Given the description of an element on the screen output the (x, y) to click on. 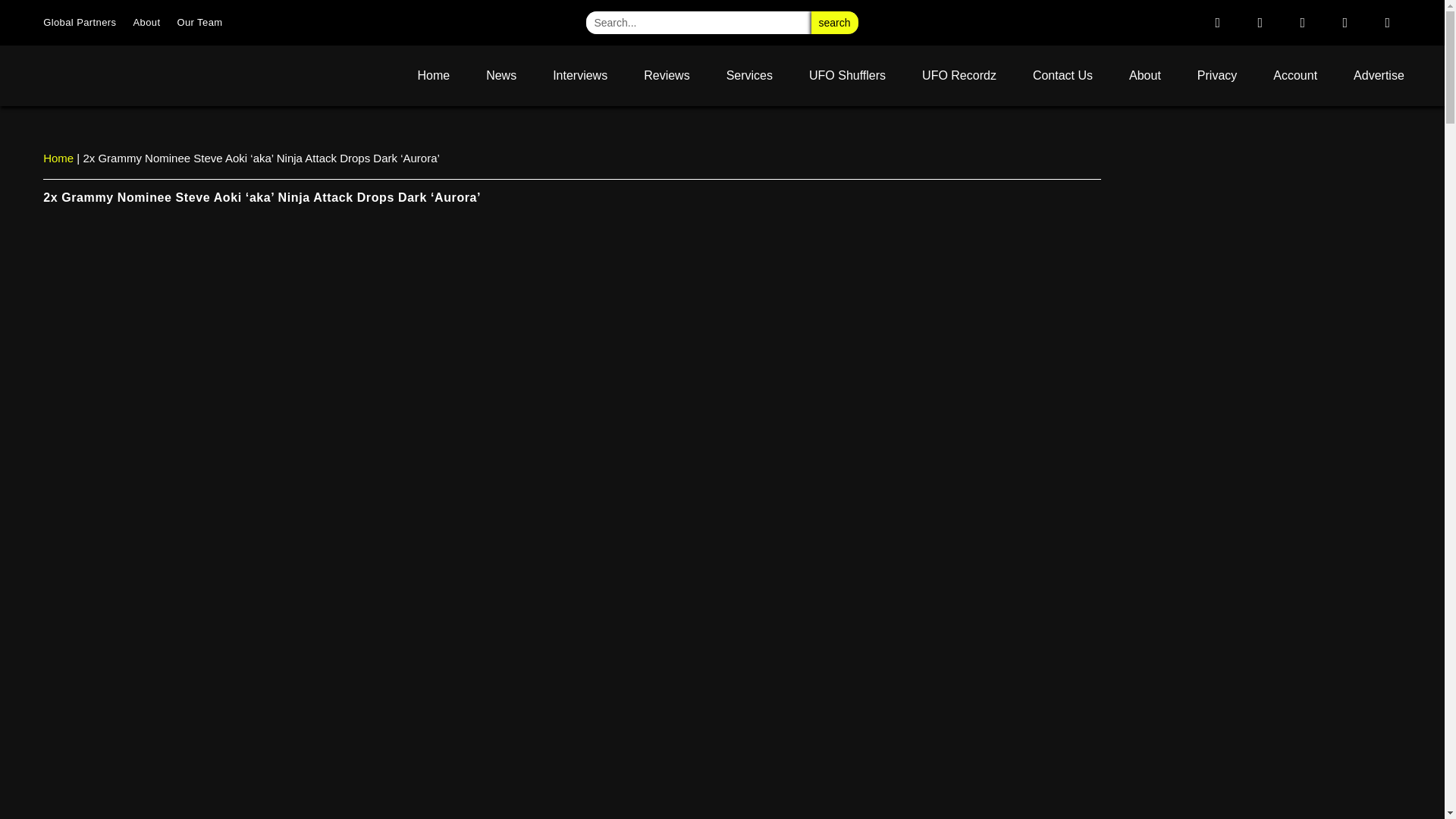
Check out our merchandise and the services we offer (1295, 75)
Contact Us (1062, 75)
Privacy (1217, 75)
Account (1295, 75)
News (500, 75)
Home (432, 75)
search (834, 22)
Reviews (666, 75)
UFO Shufflers (847, 75)
Interviews (580, 75)
